Given the description of an element on the screen output the (x, y) to click on. 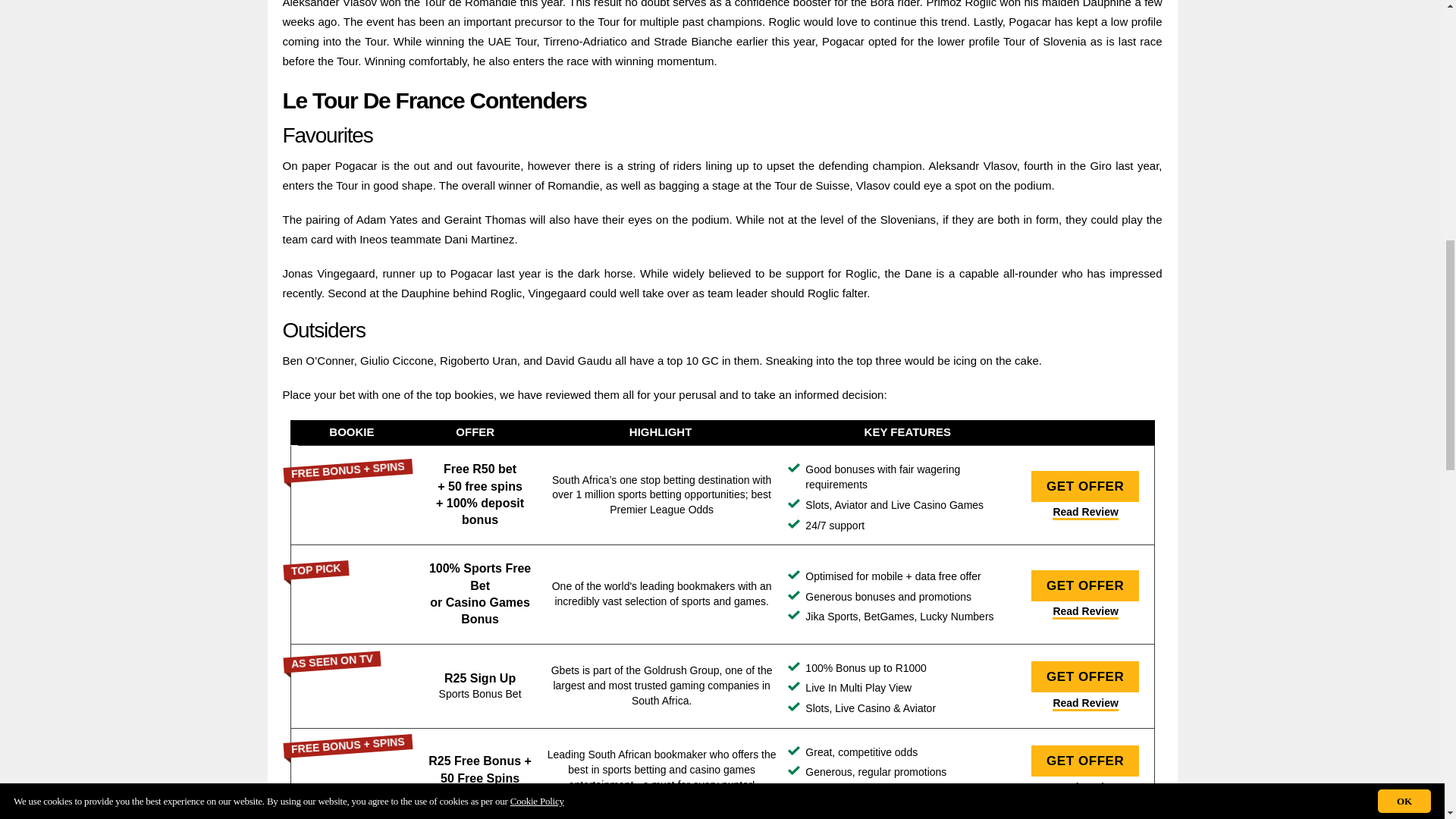
Betway (359, 594)
gbets.co.za (359, 685)
Hollywood Bets (359, 770)
Playabet (359, 494)
